Given the description of an element on the screen output the (x, y) to click on. 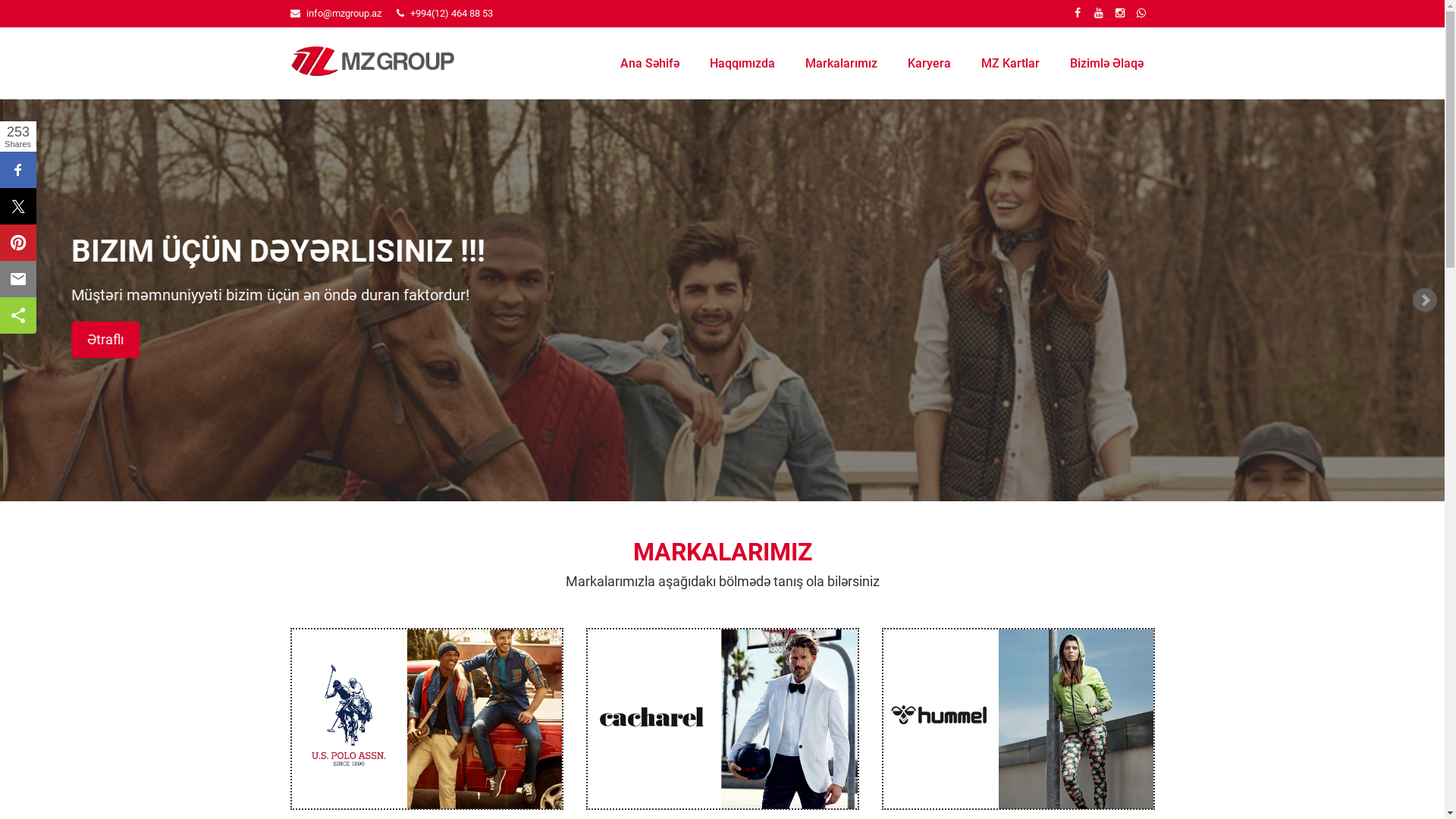
Next Element type: text (1424, 300)
MZ Kartlar Element type: text (1005, 63)
Prev Element type: text (19, 300)
info@mzgroup.az Element type: text (343, 12)
Karyera Element type: text (925, 63)
